Given the description of an element on the screen output the (x, y) to click on. 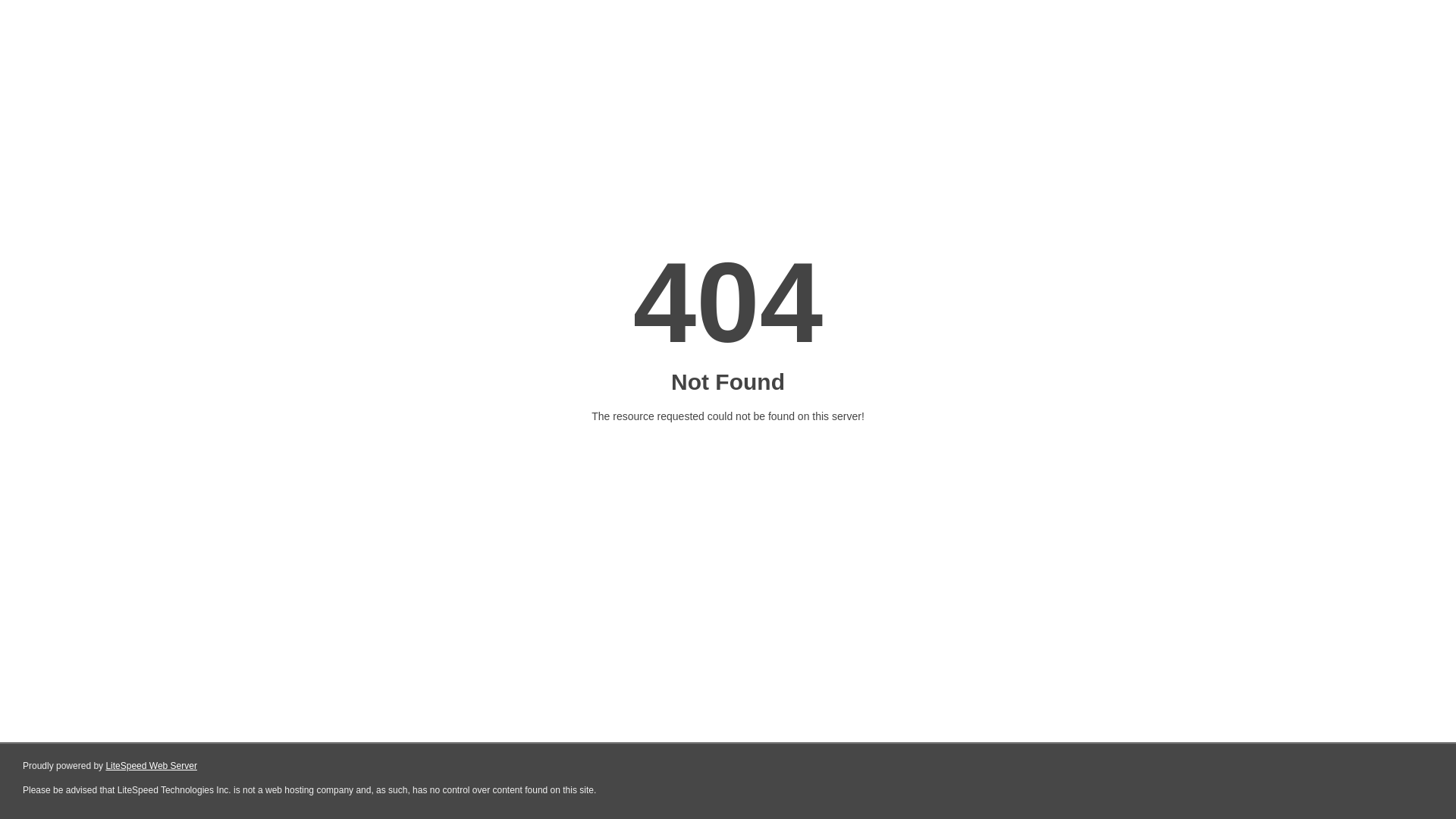
LiteSpeed Web Server Element type: text (151, 765)
